Given the description of an element on the screen output the (x, y) to click on. 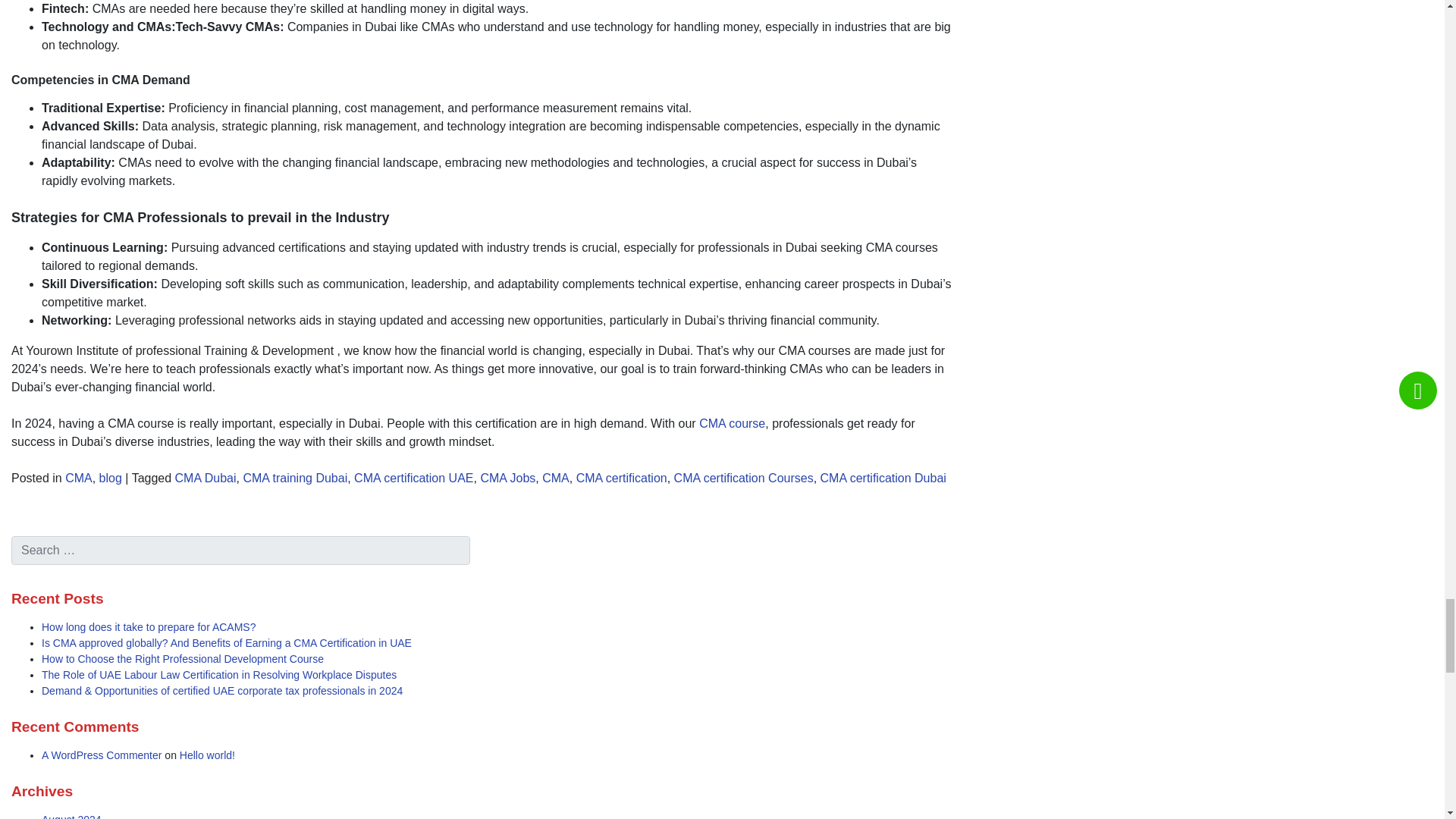
Search for: (240, 550)
